Given the description of an element on the screen output the (x, y) to click on. 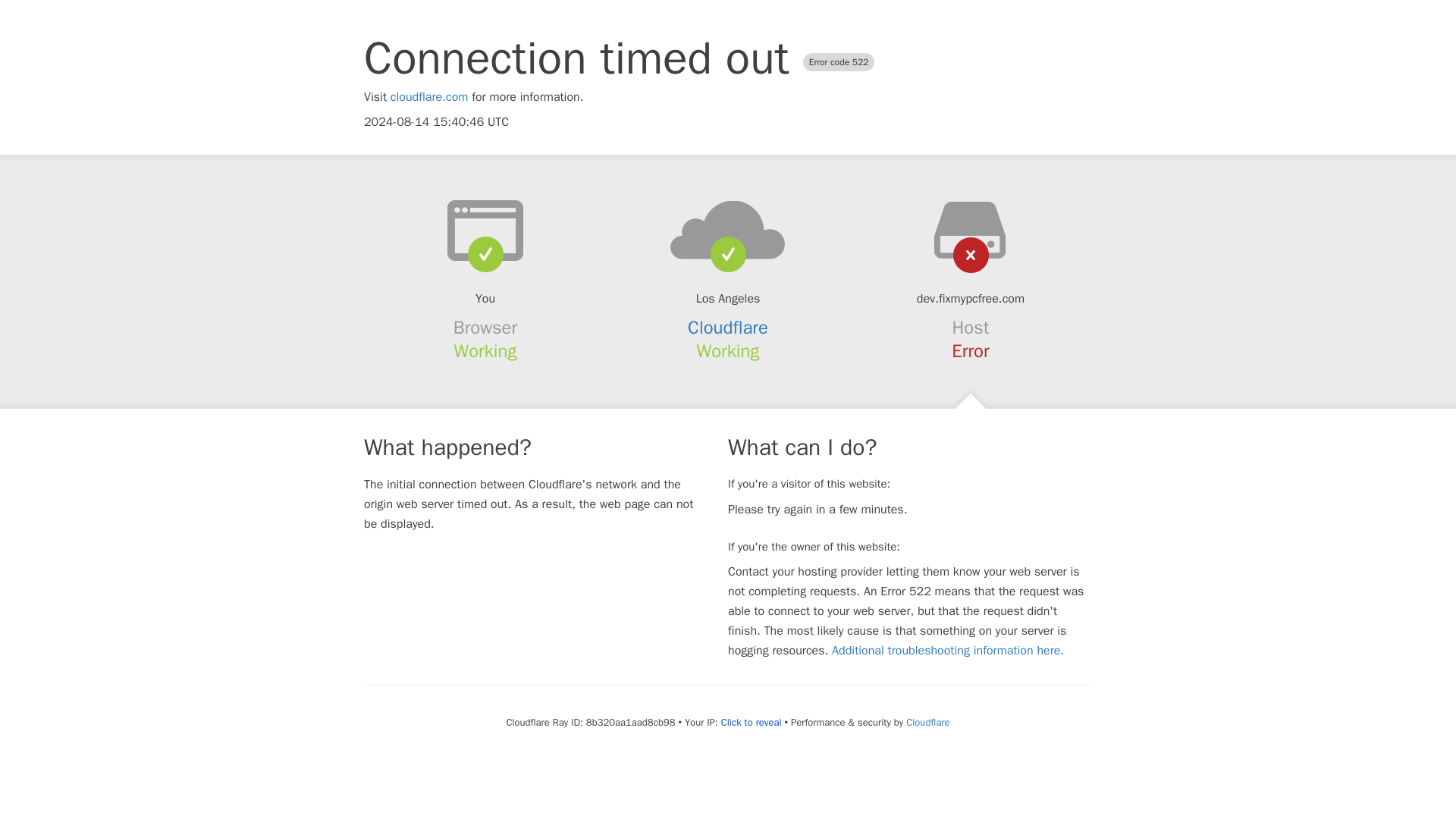
Cloudflare (927, 721)
Additional troubleshooting information here. (947, 650)
Click to reveal (750, 722)
cloudflare.com (429, 96)
Cloudflare (727, 327)
